Given the description of an element on the screen output the (x, y) to click on. 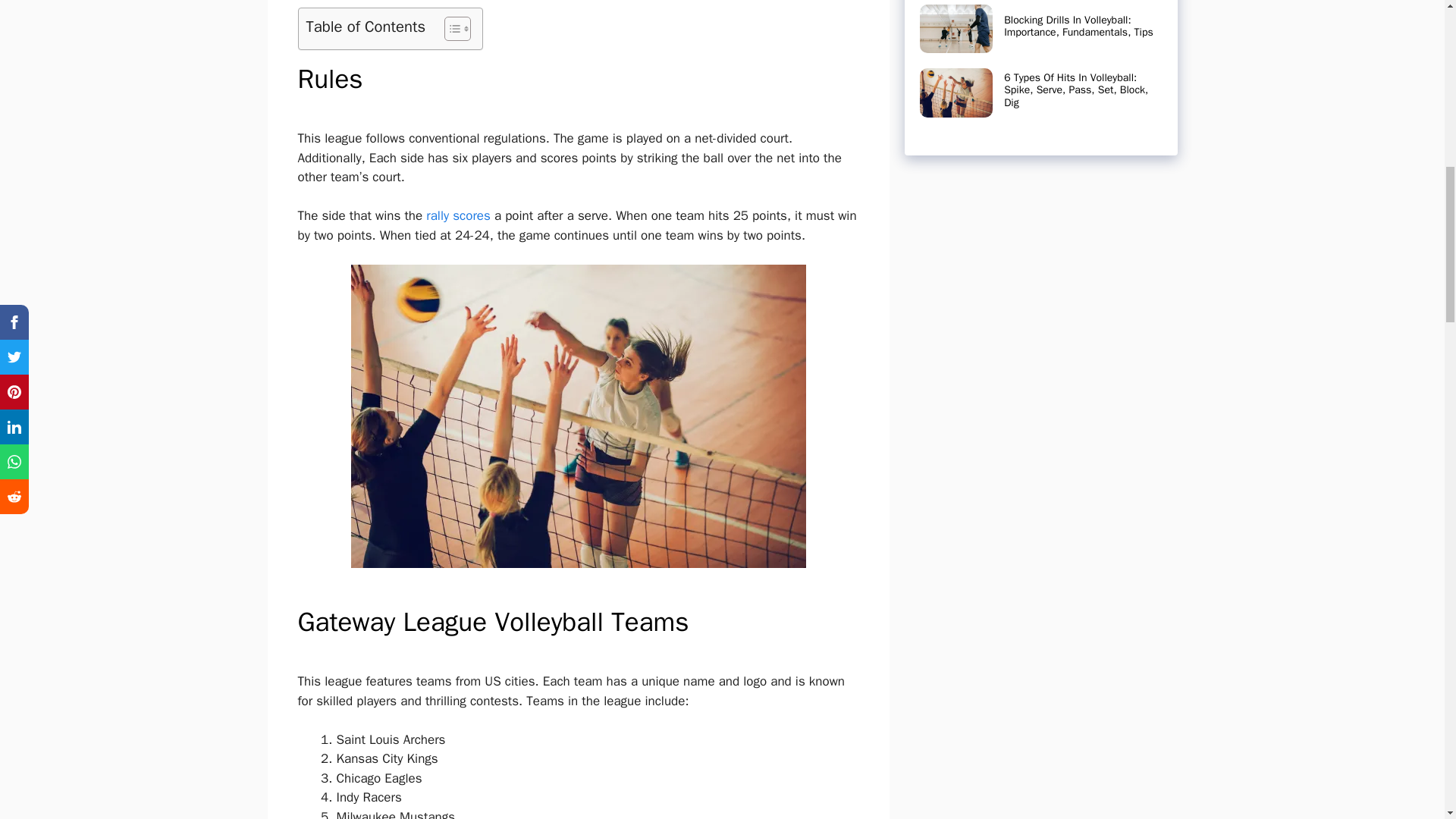
rally scores (458, 215)
